Given the description of an element on the screen output the (x, y) to click on. 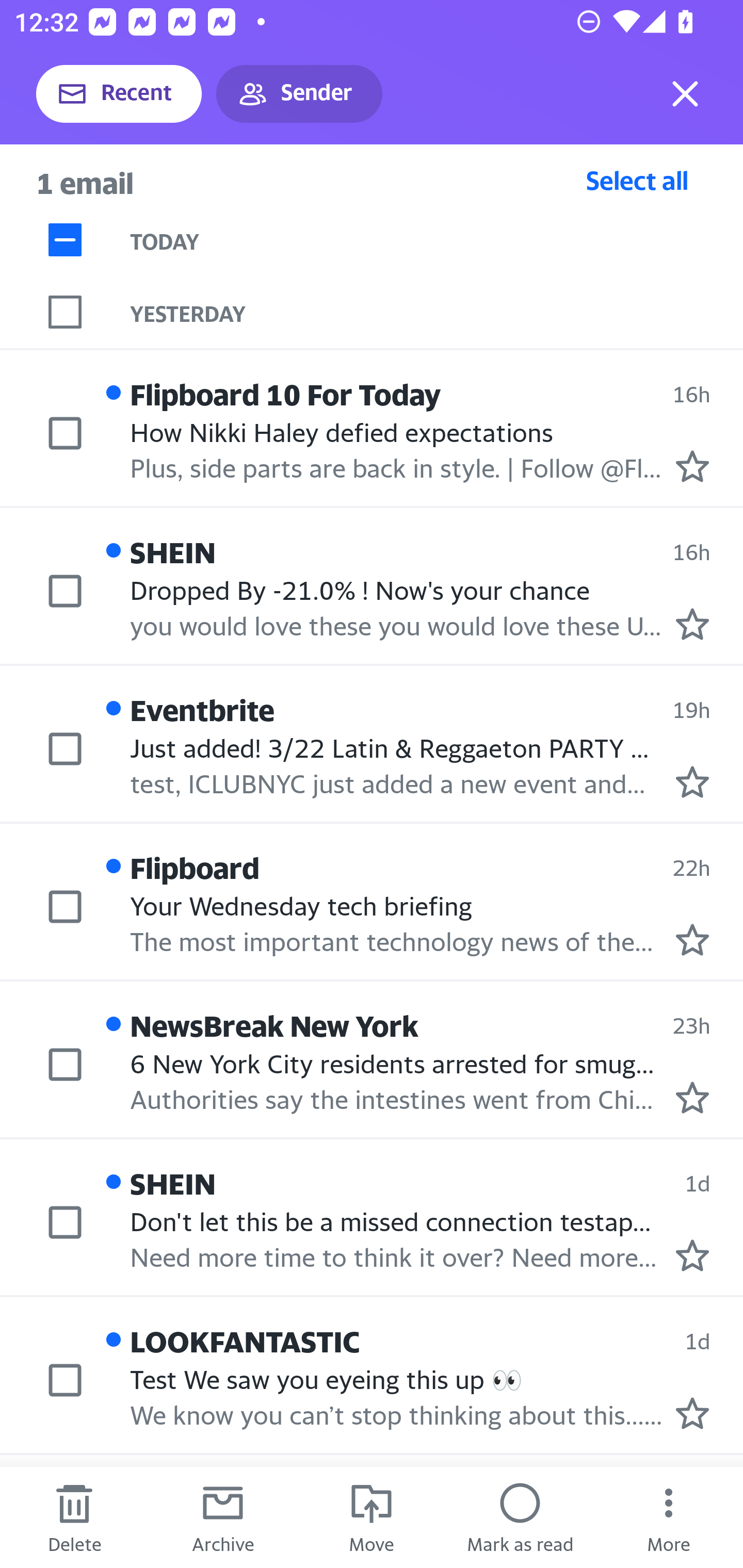
Sender (299, 93)
Exit selection mode (684, 93)
Select all (637, 180)
YESTERDAY (436, 311)
Mark as starred. (692, 466)
Mark as starred. (692, 624)
Mark as starred. (692, 781)
Mark as starred. (692, 939)
Mark as starred. (692, 1097)
Mark as starred. (692, 1255)
Mark as starred. (692, 1413)
Delete (74, 1517)
Archive (222, 1517)
Move (371, 1517)
Mark as read (519, 1517)
More (668, 1517)
